Given the description of an element on the screen output the (x, y) to click on. 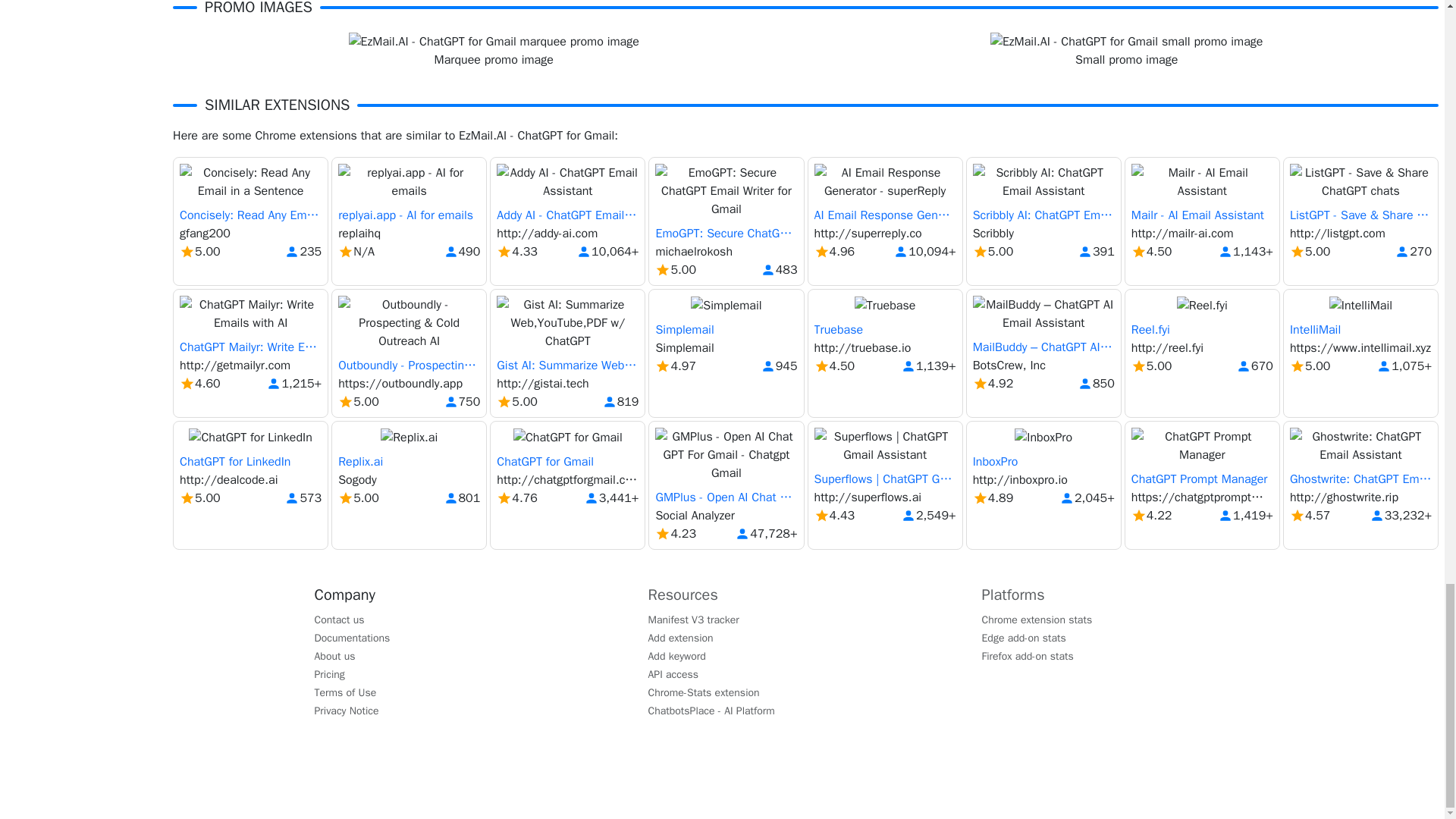
Chrome-Stats API Access (672, 673)
